Given the description of an element on the screen output the (x, y) to click on. 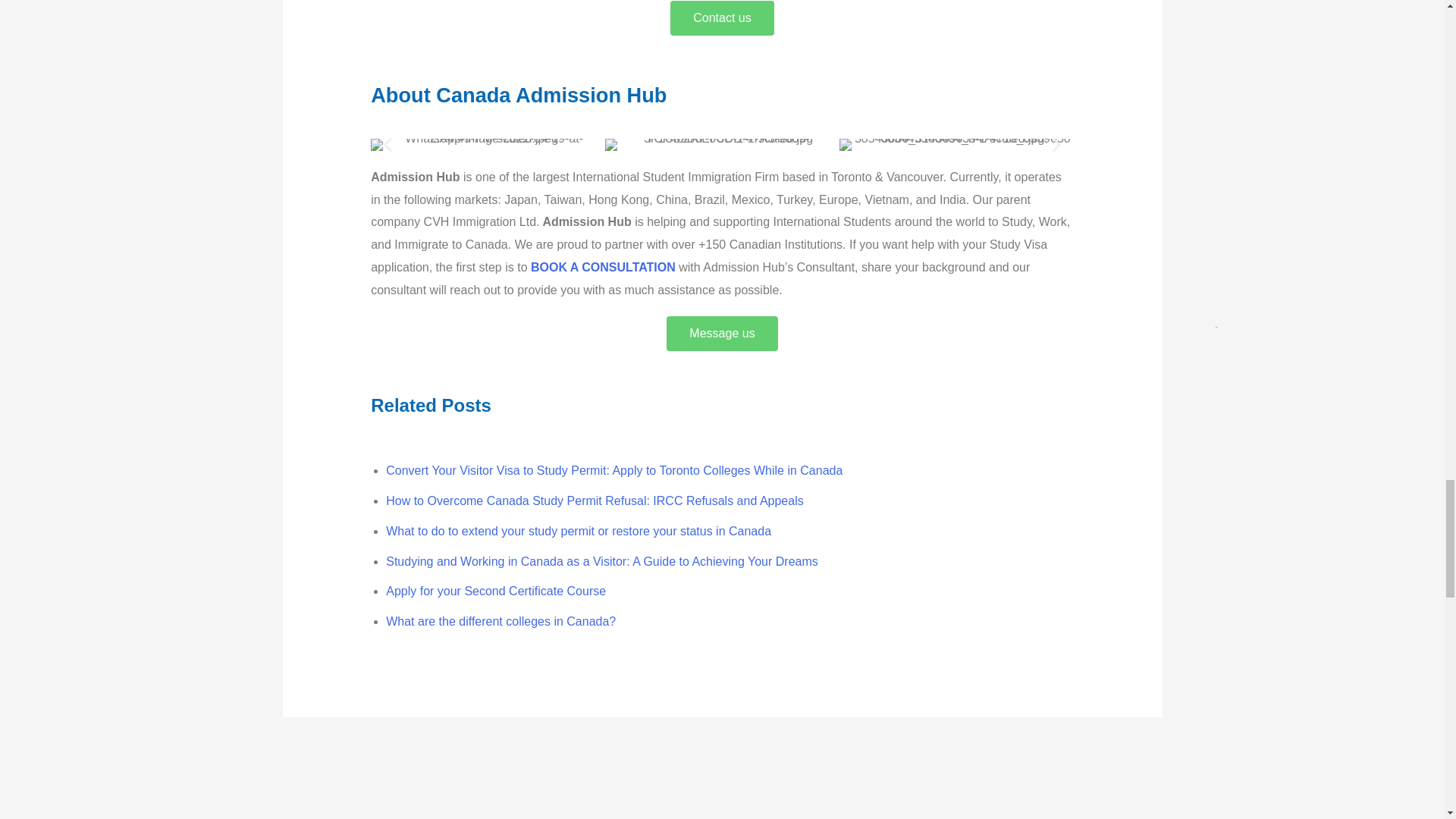
What are the different colleges in Canada? (500, 621)
Apply for your Second Certificate Course (495, 590)
